Given the description of an element on the screen output the (x, y) to click on. 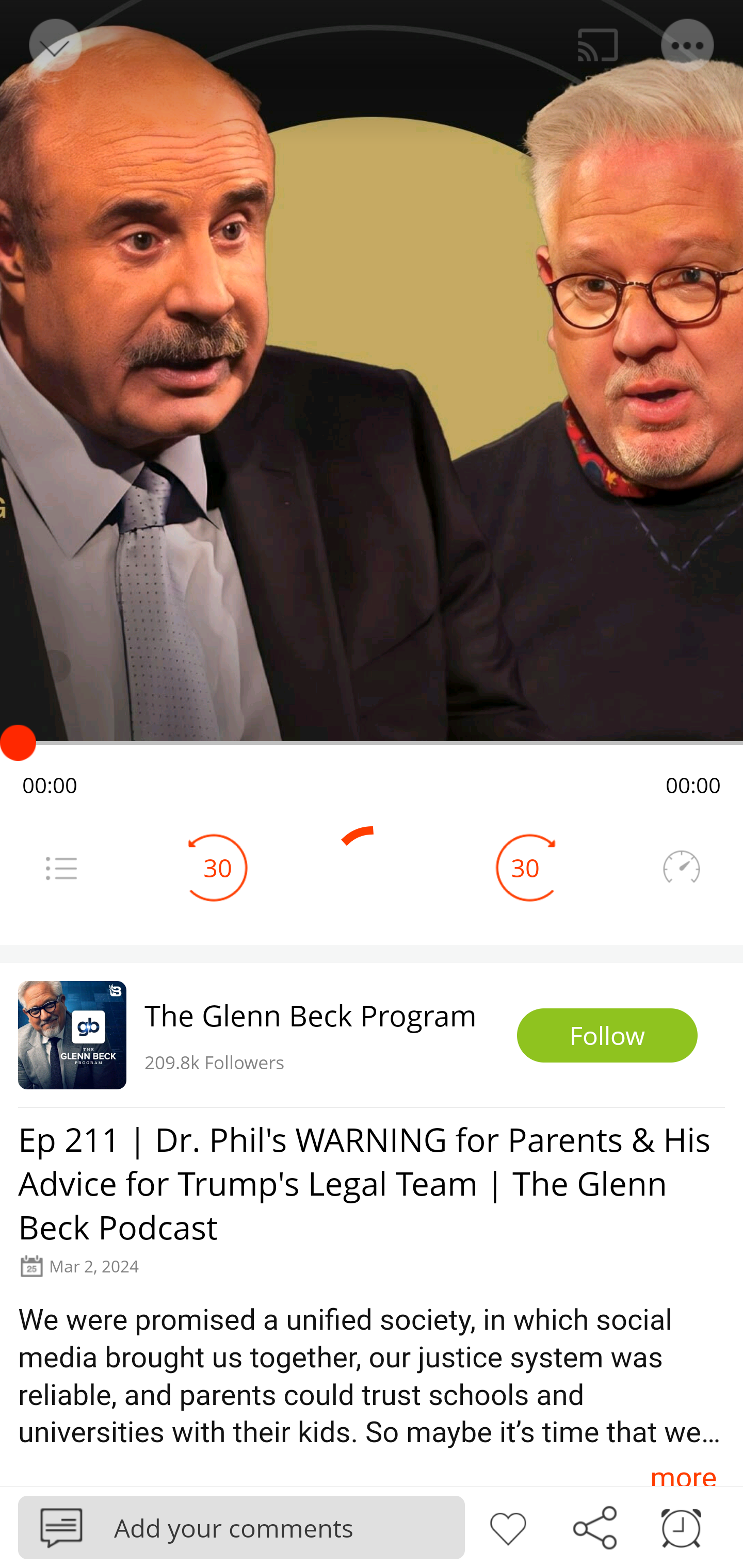
Back (53, 45)
Cast. Disconnected (597, 45)
Menu (688, 45)
30 Seek Backward (217, 867)
30 Seek Forward (525, 867)
Menu (60, 867)
Speedometer (681, 867)
The Glenn Beck Program 209.8k Followers Follow (371, 1034)
Follow (607, 1035)
Like (508, 1526)
Share (594, 1526)
Sleep timer (681, 1526)
Podbean Add your comments (241, 1526)
